Given the description of an element on the screen output the (x, y) to click on. 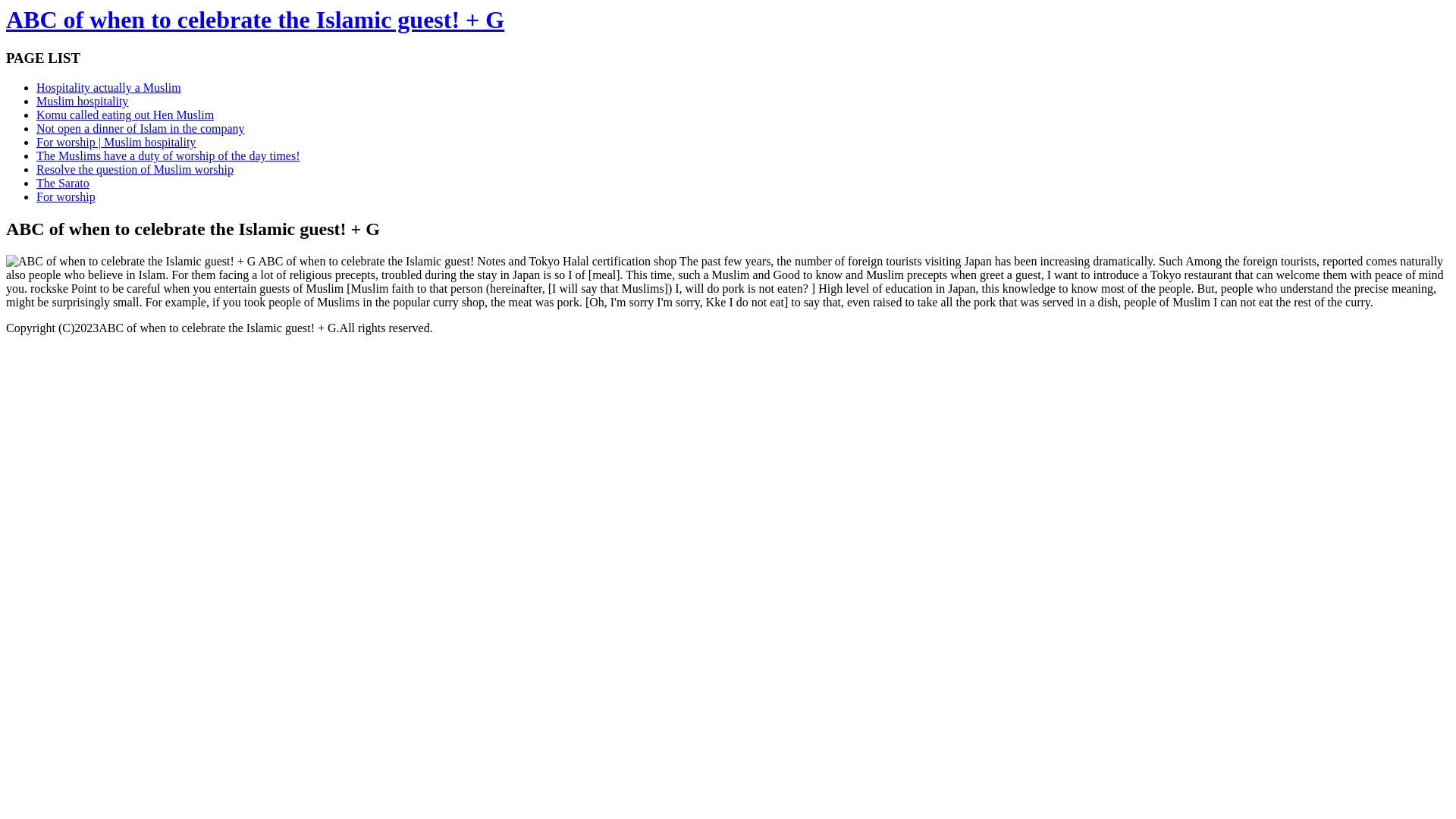
Hospitality actually a Muslim Element type: text (108, 87)
For worship | Muslim hospitality Element type: text (115, 141)
For worship Element type: text (65, 196)
Muslim hospitality Element type: text (82, 100)
The Sarato Element type: text (62, 182)
Resolve the question of Muslim worship Element type: text (134, 169)
The Muslims have a duty of worship of the day times! Element type: text (168, 155)
Not open a dinner of Islam in the company Element type: text (140, 128)
Komu called eating out Hen Muslim Element type: text (124, 114)
ABC of when to celebrate the Islamic guest! + G Element type: text (255, 19)
